Given the description of an element on the screen output the (x, y) to click on. 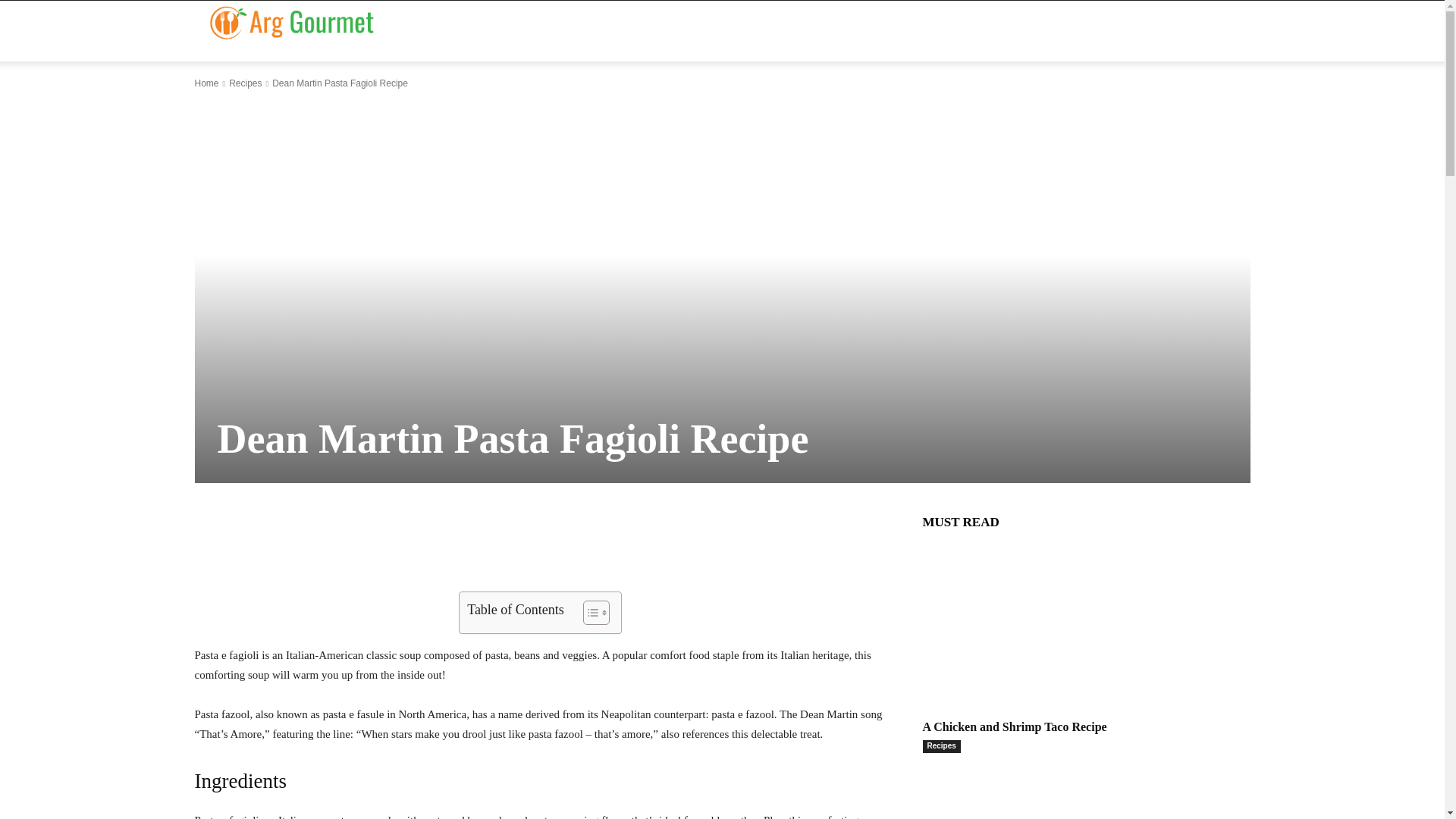
Home (205, 82)
View all posts in Recipes (245, 82)
RECIPES (763, 30)
HOME (578, 30)
Arg Gourmet (290, 21)
SPOTLIGHT (851, 30)
Search (1210, 57)
Recipes (245, 82)
